Given the description of an element on the screen output the (x, y) to click on. 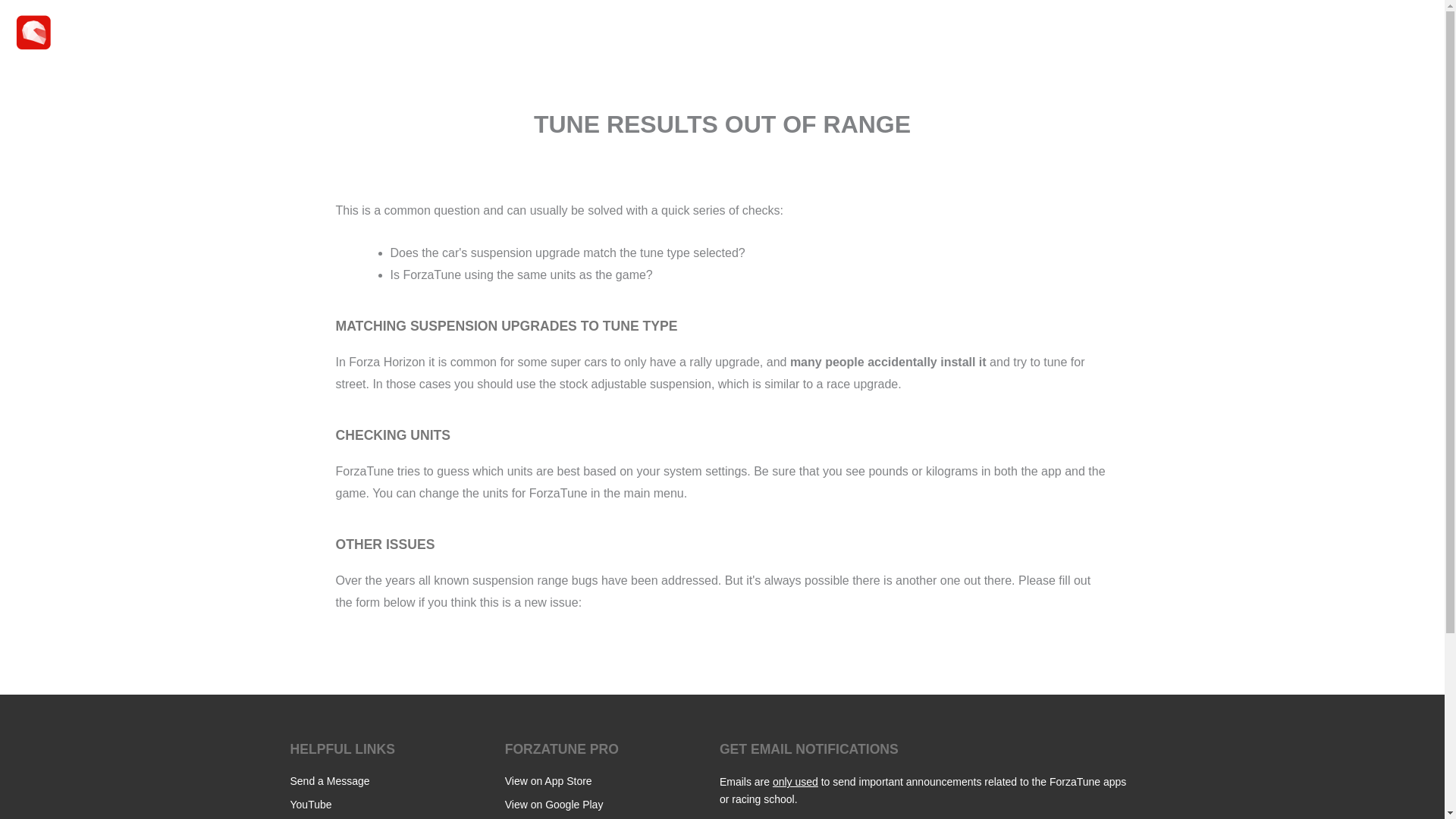
View on App Store (548, 780)
Testimonials (1220, 32)
View on Google Play (554, 804)
only used (795, 781)
Send a Message (329, 780)
YouTube (310, 804)
